Given the description of an element on the screen output the (x, y) to click on. 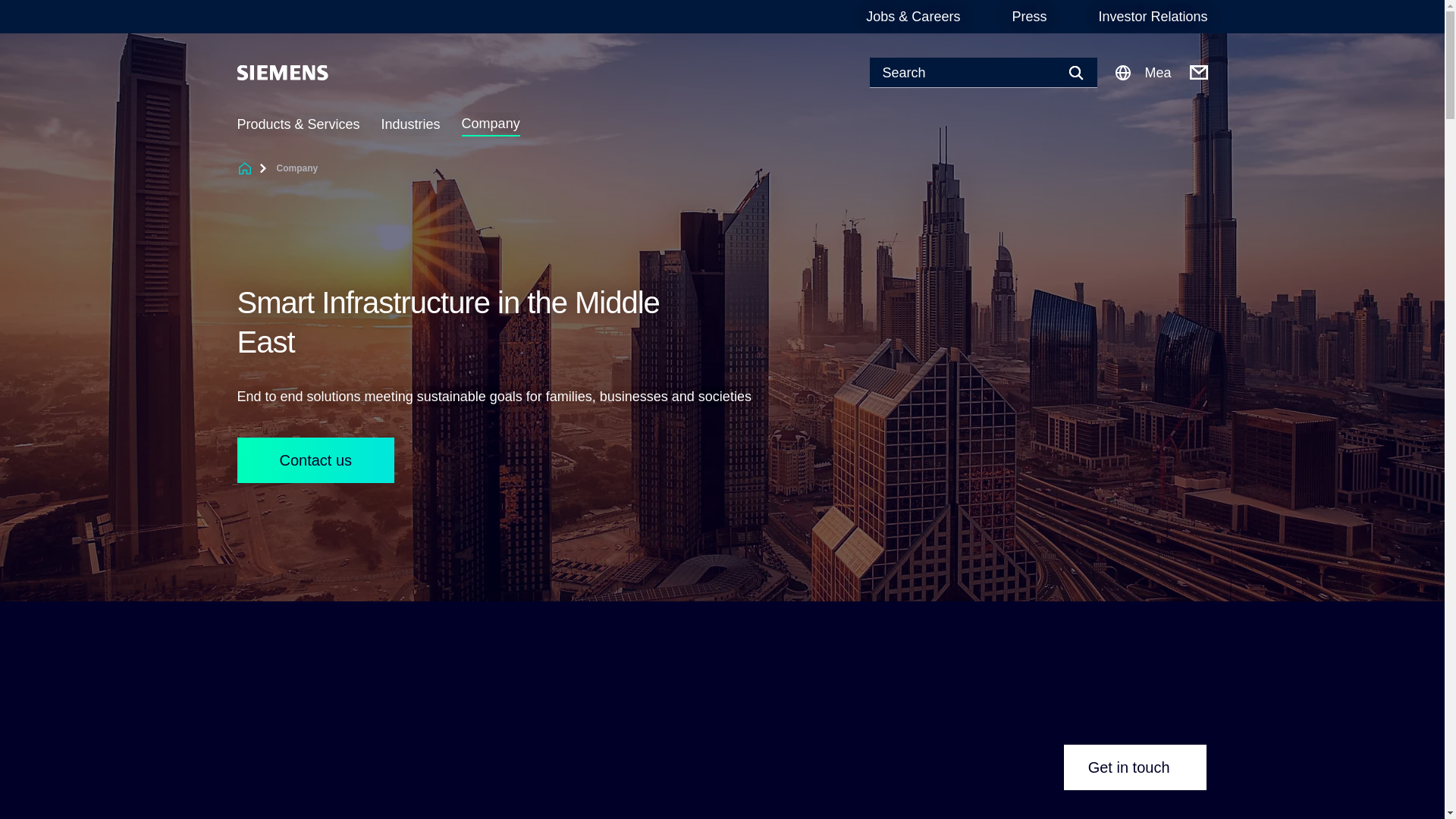
Siemens (281, 72)
Contact us (314, 460)
Investor Relations (1152, 16)
Mea (1142, 72)
search (8, 9)
Industries (411, 124)
Company (490, 124)
Get in touch (1135, 766)
Press (1028, 16)
